Given the description of an element on the screen output the (x, y) to click on. 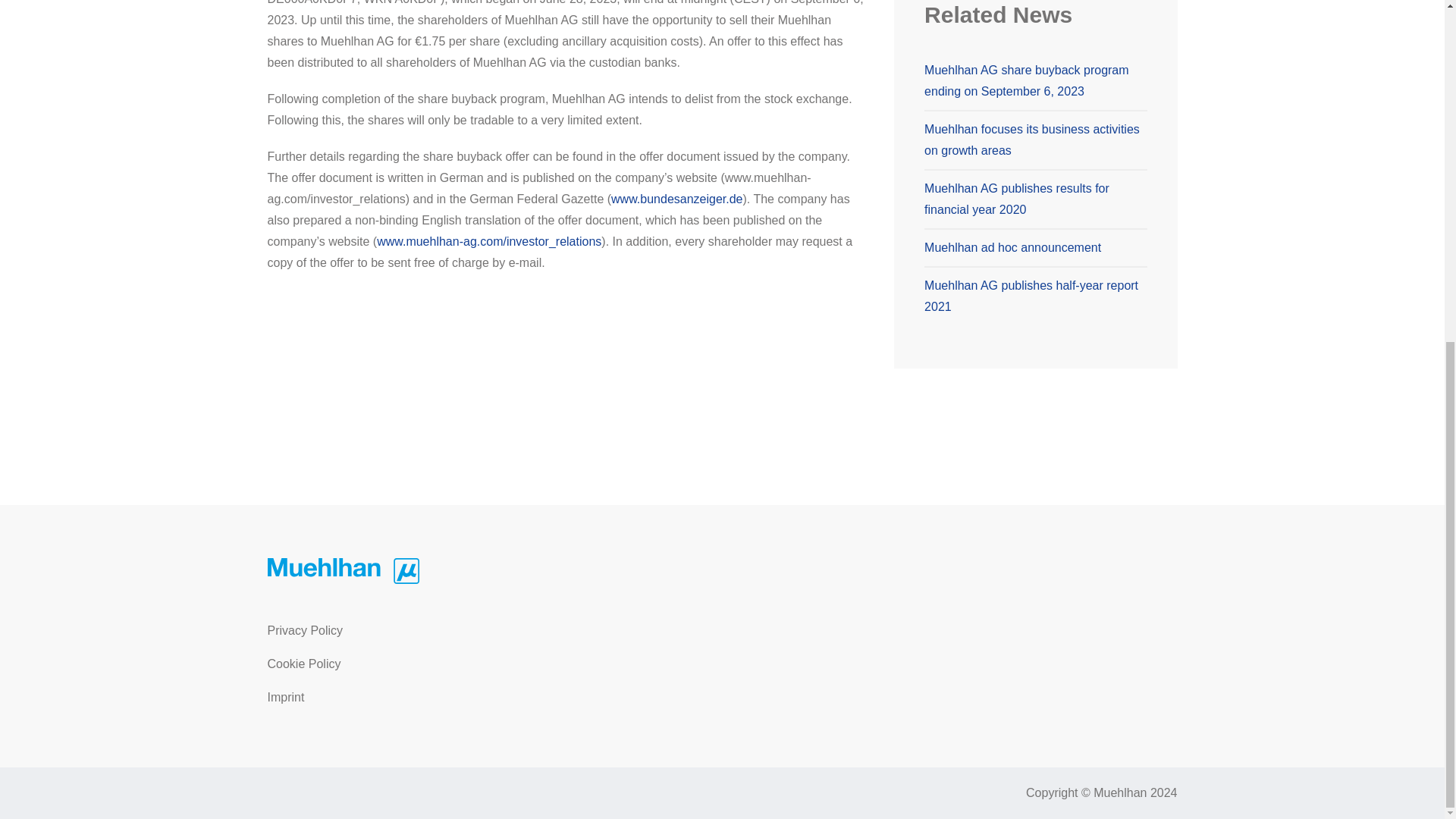
Muehlhan ad hoc announcement (1012, 208)
Cookie Policy (408, 663)
Muehlhan AG publishes results for financial year 2020 (1016, 160)
Privacy Policy (408, 630)
www.bundesanzeiger.de (676, 198)
Muehlhan focuses its business activities on growth areas (1032, 100)
Imprint (408, 697)
Muehlhan AG publishes half-year report 2021 (1031, 257)
